Given the description of an element on the screen output the (x, y) to click on. 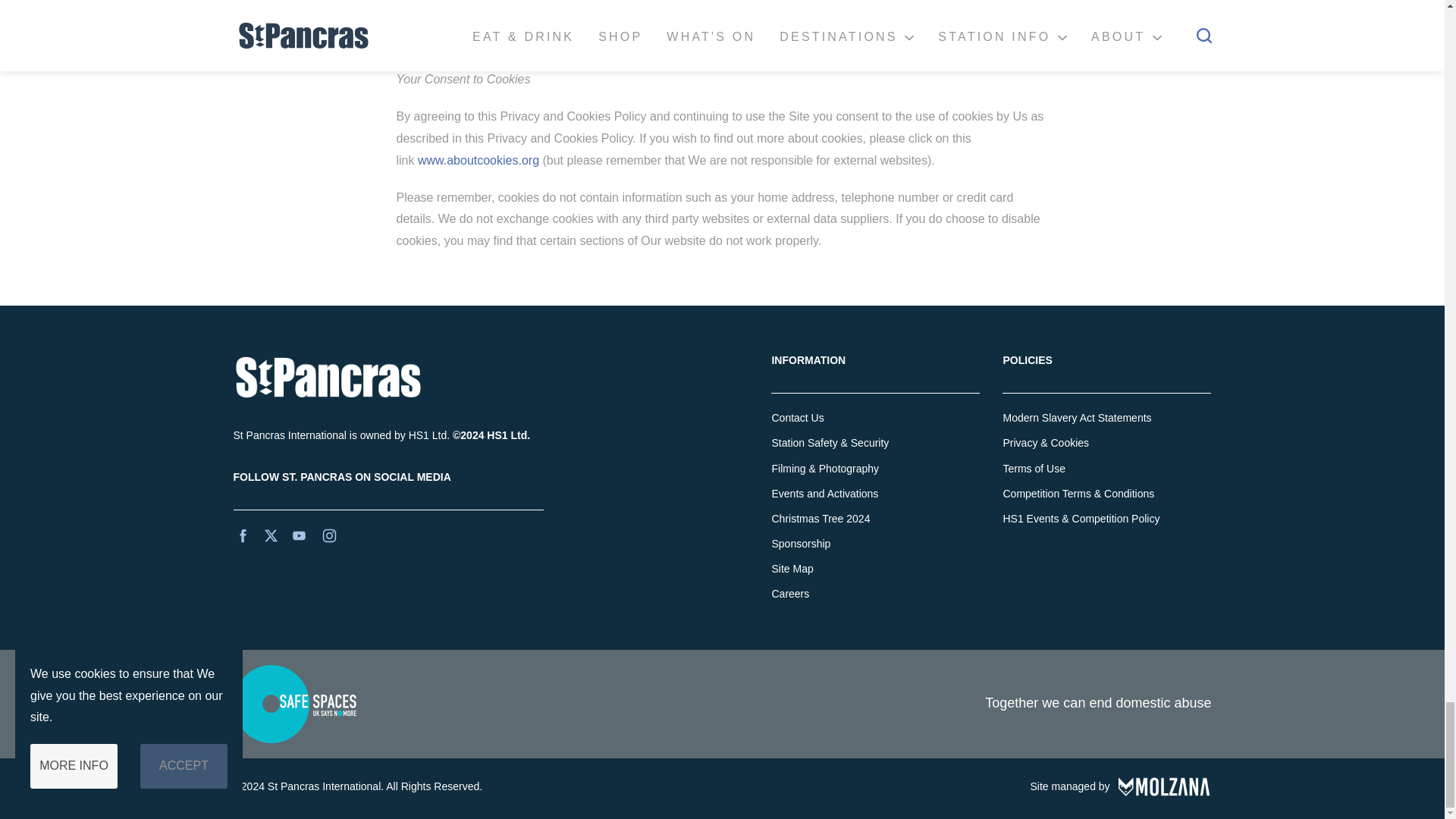
St Pancras International (388, 377)
www.aboutcookies.org (477, 160)
View St Pancras International on Twitter (270, 535)
View St Pancras International on Facebook (241, 534)
View St Pancras International on YouTube (298, 534)
